Given the description of an element on the screen output the (x, y) to click on. 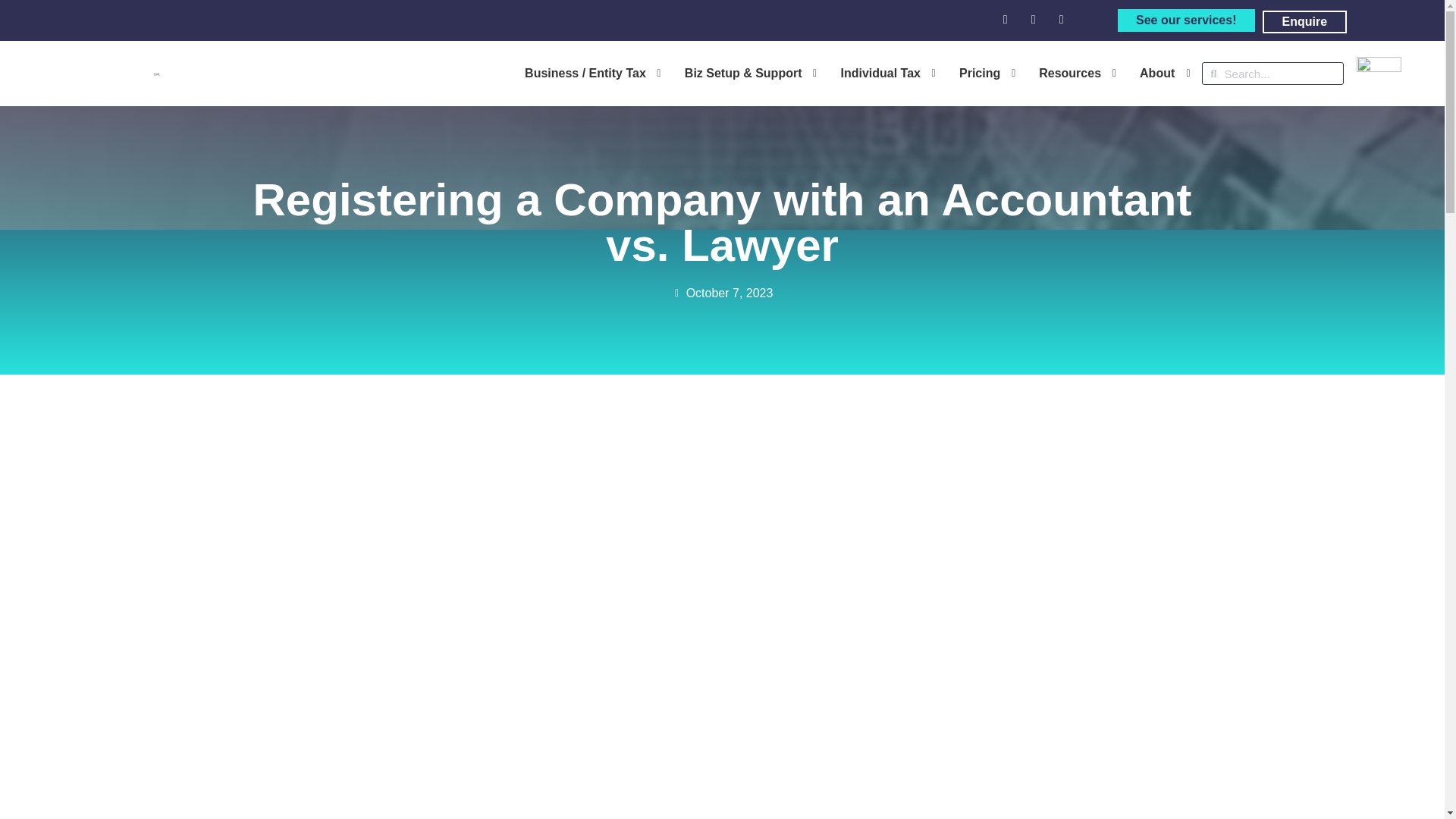
Pricing (974, 73)
See our services! (1186, 20)
Enquire (1304, 21)
Search (1279, 73)
About (1152, 73)
Individual Tax (874, 73)
Resources (1064, 73)
